Given the description of an element on the screen output the (x, y) to click on. 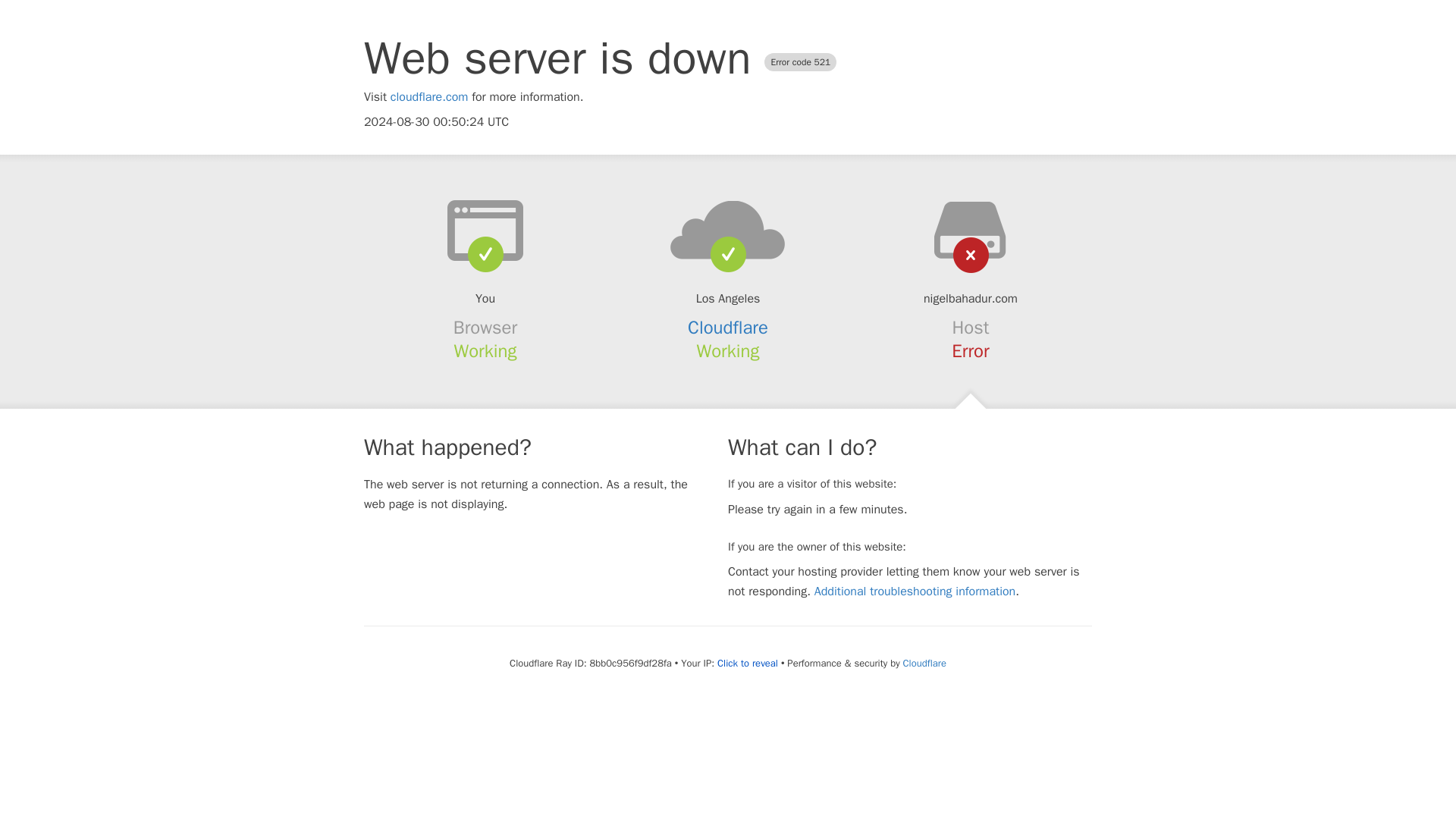
Click to reveal (747, 663)
Cloudflare (727, 327)
cloudflare.com (429, 96)
Cloudflare (924, 662)
Additional troubleshooting information (913, 590)
